Given the description of an element on the screen output the (x, y) to click on. 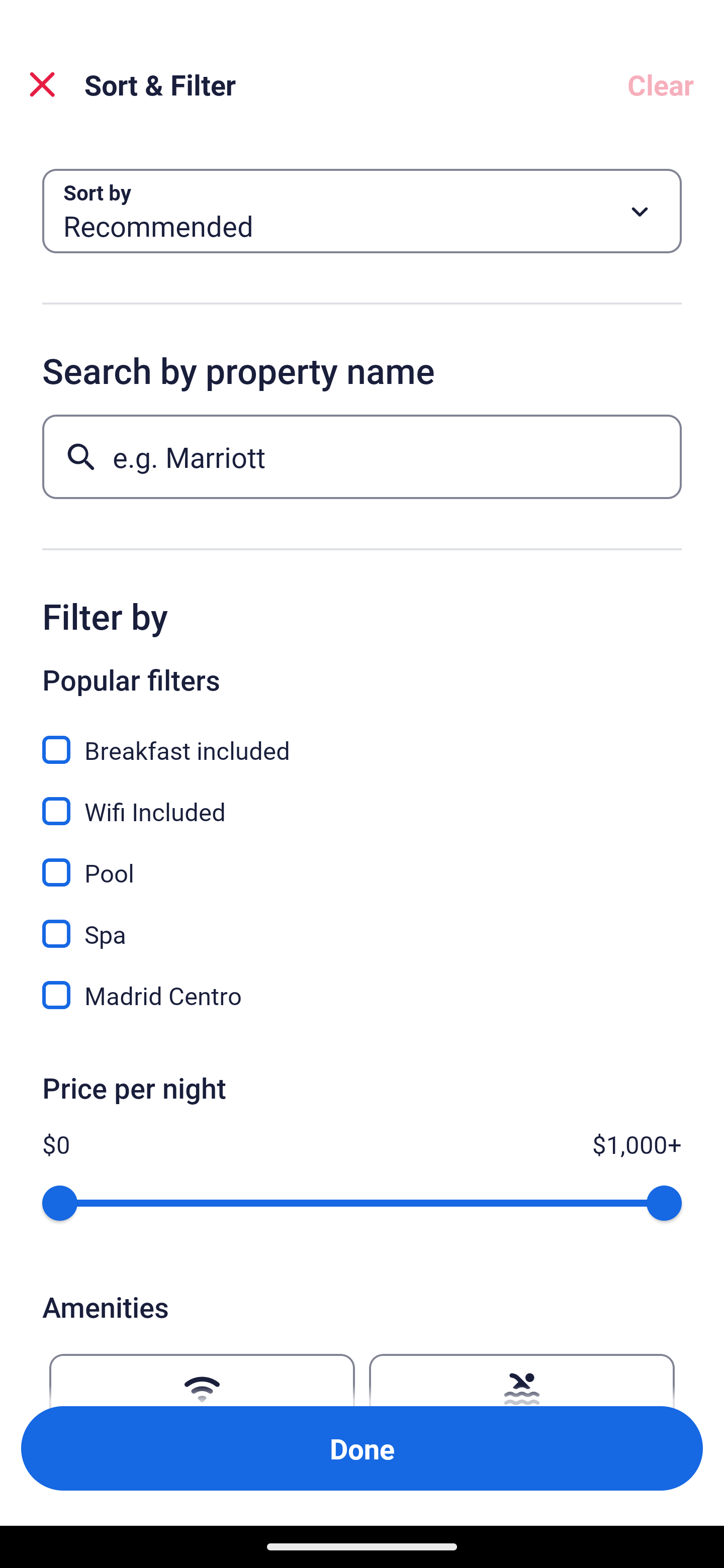
Close Sort and Filter (42, 84)
Clear (660, 84)
Sort by Button Recommended (361, 211)
e.g. Marriott Button (361, 455)
Breakfast included, Breakfast included (361, 738)
Wifi Included, Wifi Included (361, 800)
Pool, Pool (361, 861)
Spa, Spa (361, 922)
Madrid Centro, Madrid Centro (361, 995)
Apply and close Sort and Filter Done (361, 1448)
